Given the description of an element on the screen output the (x, y) to click on. 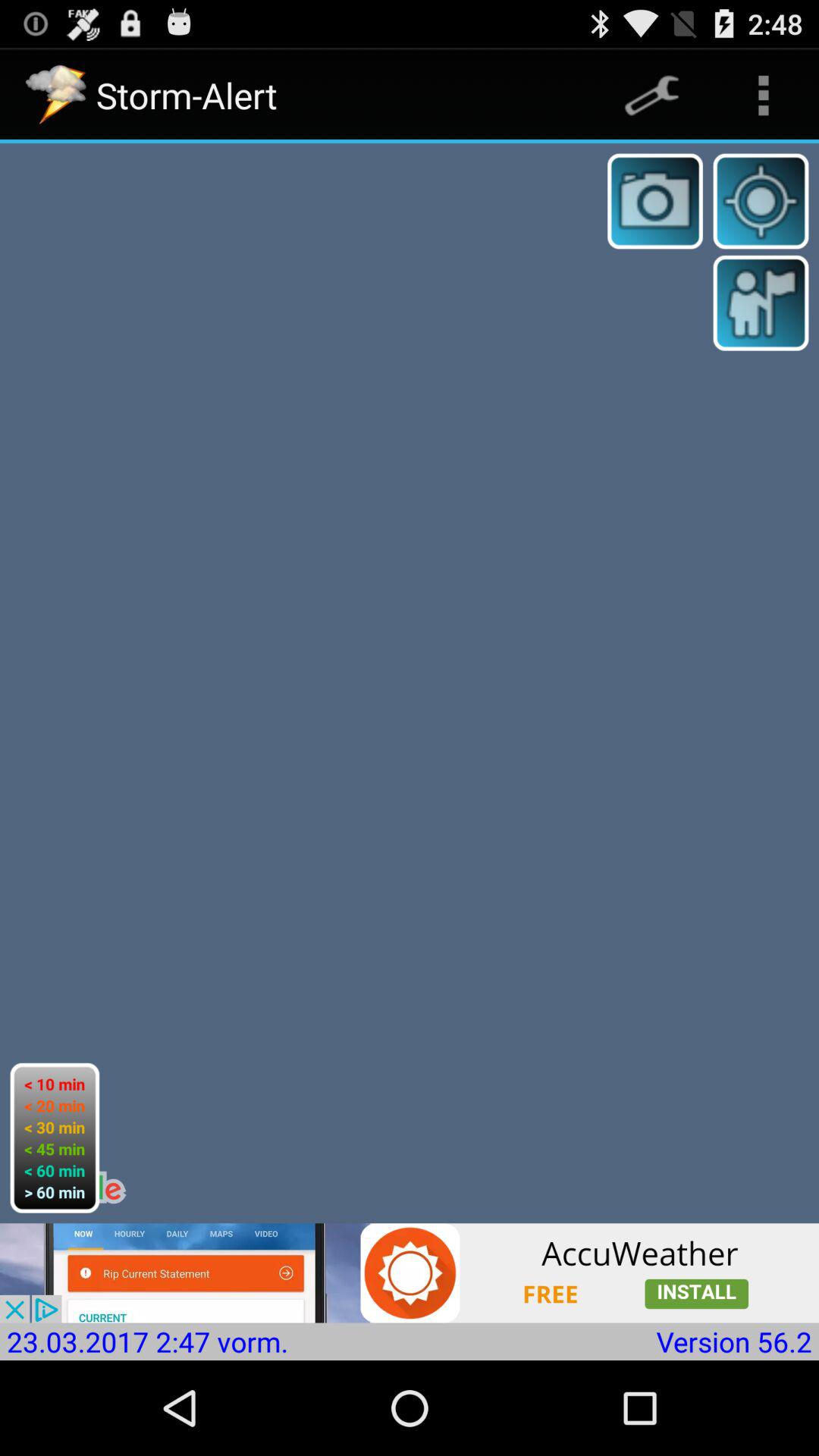
choose app next to storm-alert item (651, 95)
